Given the description of an element on the screen output the (x, y) to click on. 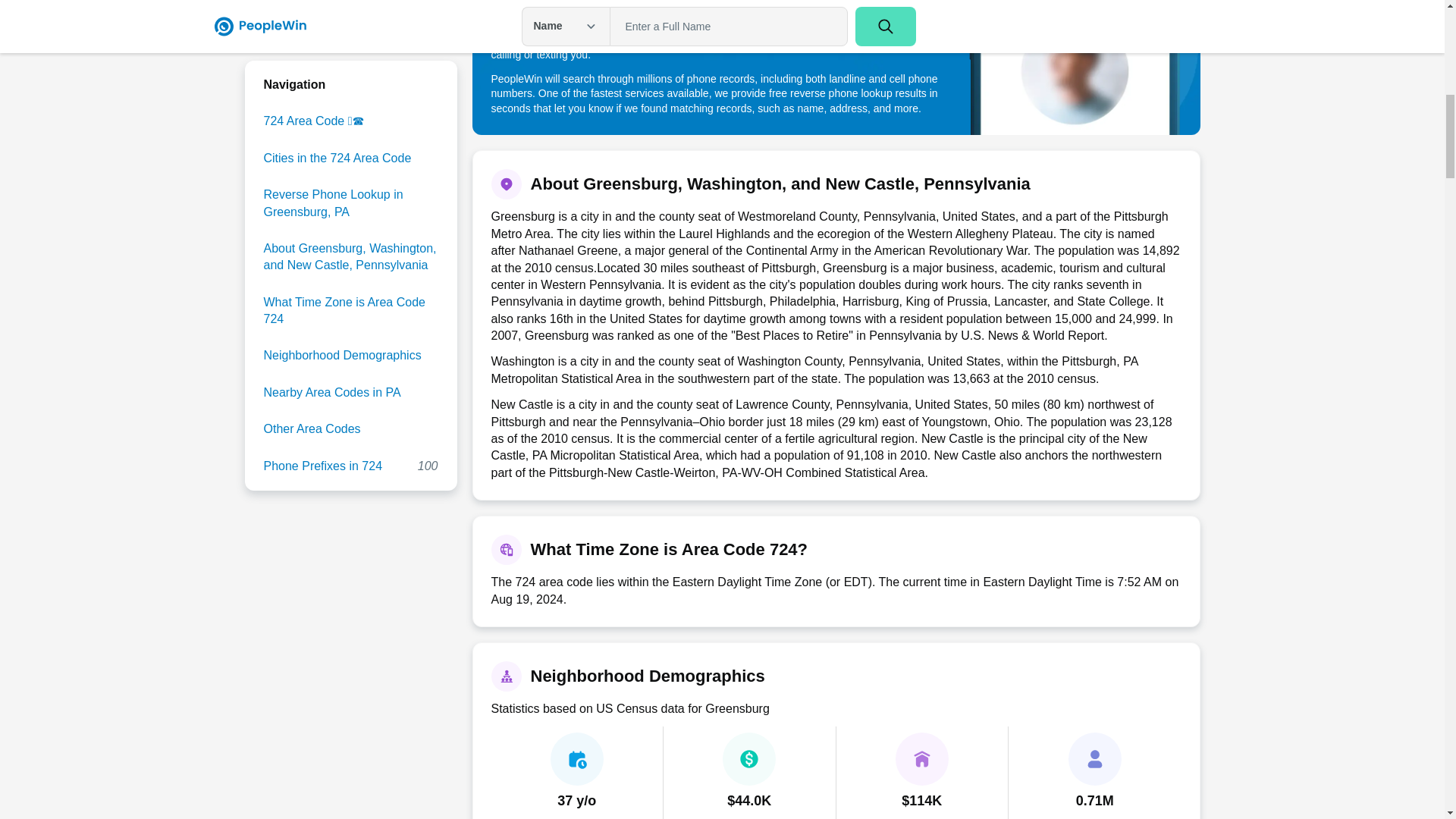
Other Area Codes (349, 100)
Neighborhood Demographics (349, 63)
Nearby Area Codes in PA (349, 4)
